Given the description of an element on the screen output the (x, y) to click on. 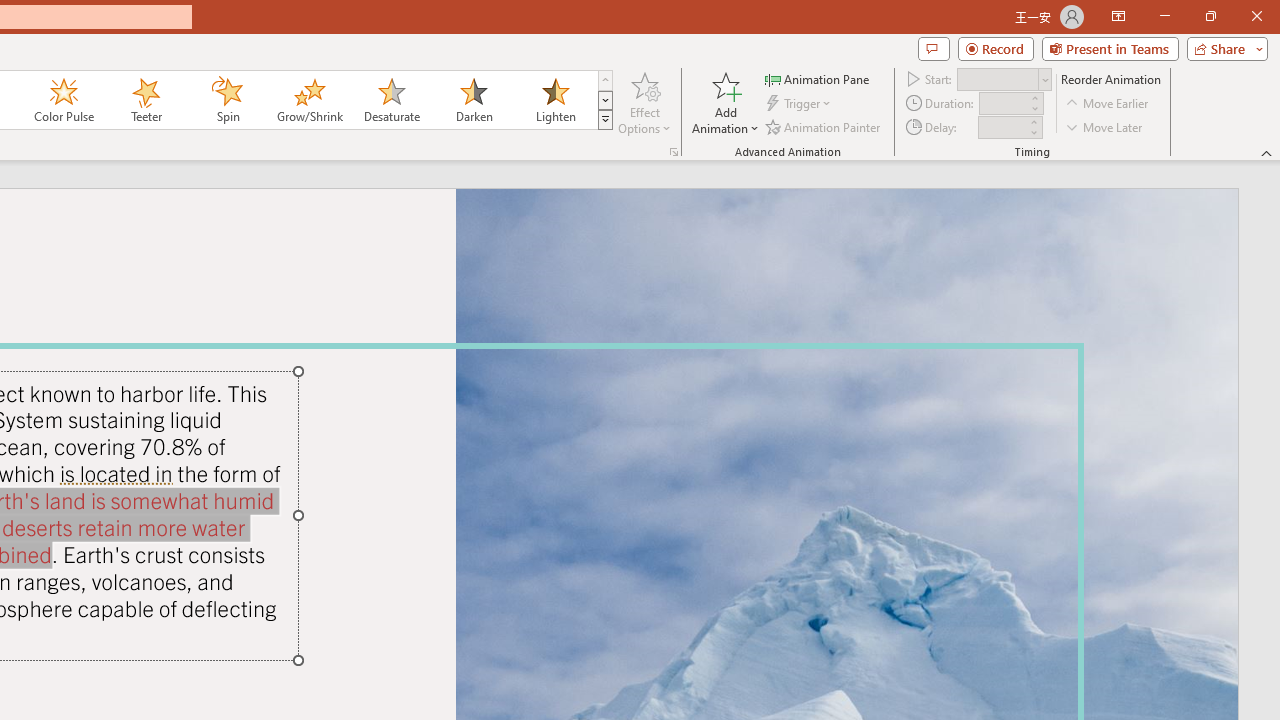
Animation Painter (824, 126)
Desaturate (391, 100)
Move Earlier (1107, 103)
Color Pulse (63, 100)
Animation Styles (605, 120)
Animation Duration (1003, 103)
Move Later (1105, 126)
